Given the description of an element on the screen output the (x, y) to click on. 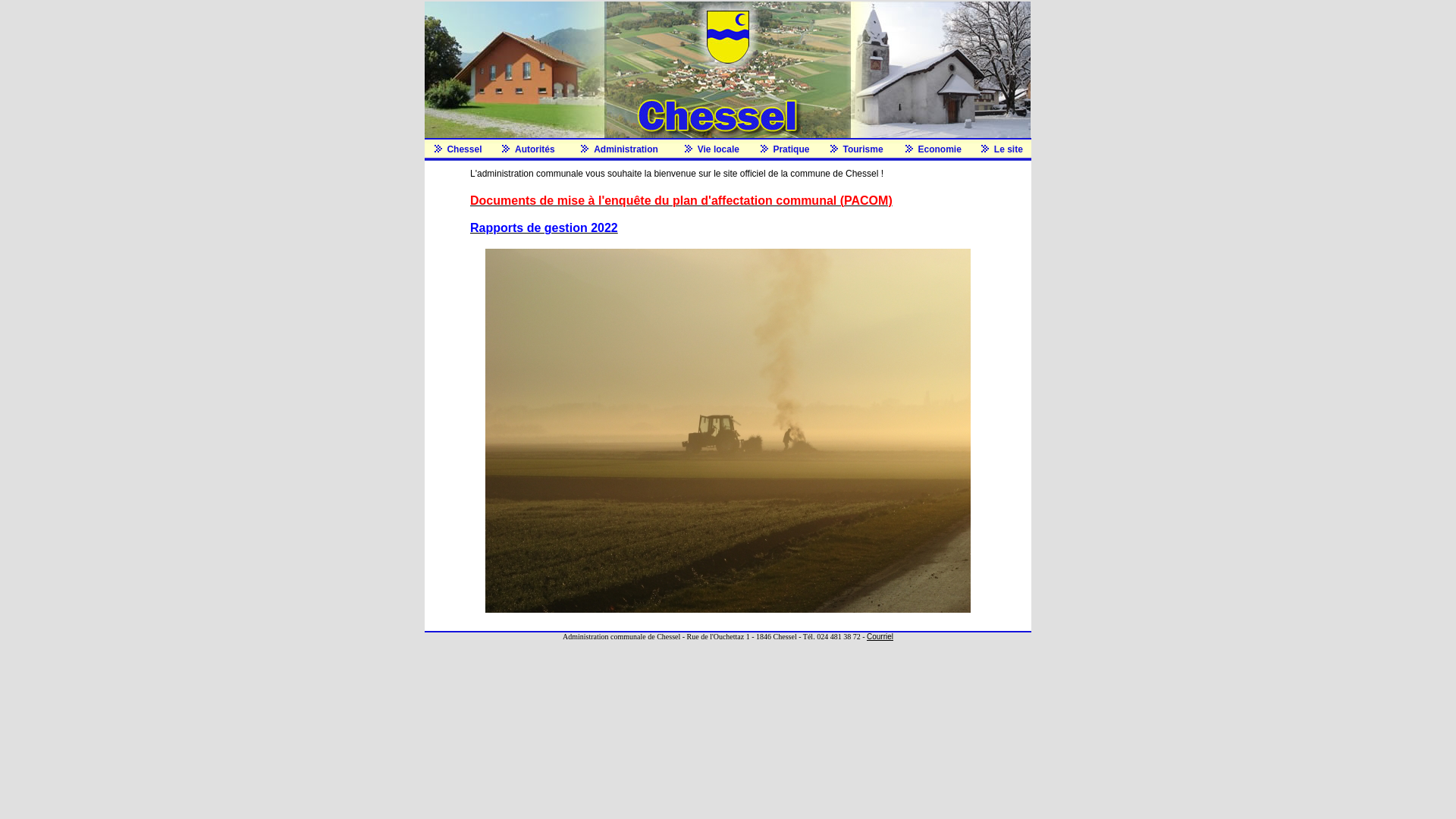
Le site Element type: text (1008, 149)
Tourisme Element type: text (862, 149)
Chessel Element type: text (463, 149)
Courriel Element type: text (879, 635)
Pratique Element type: text (790, 149)
Economie Element type: text (939, 149)
Rapports de gestion 2022 Element type: text (544, 228)
Administration Element type: text (625, 149)
Vie locale Element type: text (718, 149)
